Given the description of an element on the screen output the (x, y) to click on. 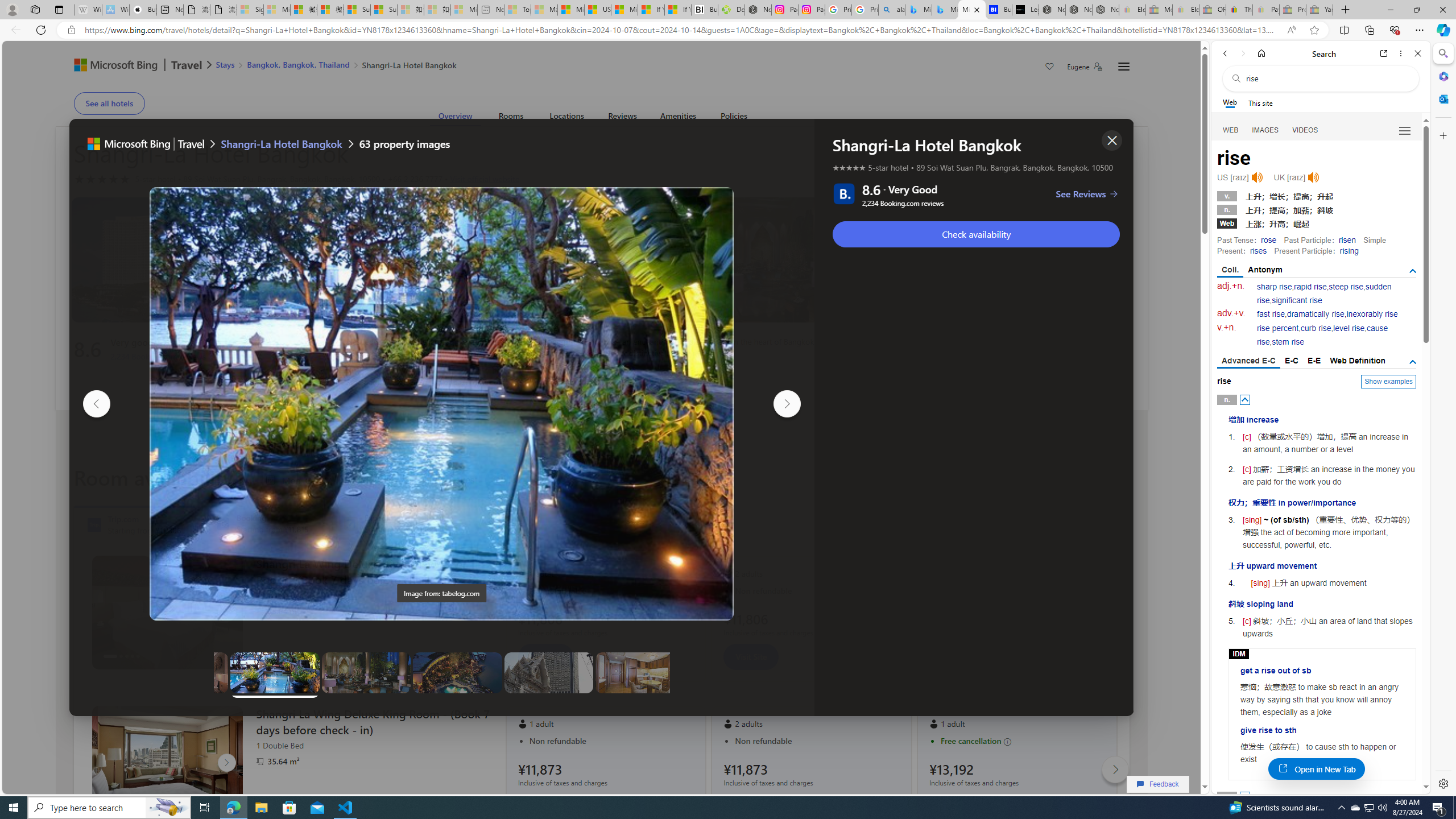
AutomationID: tgdef (1412, 362)
Marine life - MSN - Sleeping (543, 9)
Sign in to your Microsoft account - Sleeping (249, 9)
Payments Terms of Use | eBay.com - Sleeping (1265, 9)
rise percent (1277, 328)
WEB (1231, 130)
risen (1347, 239)
